Given the description of an element on the screen output the (x, y) to click on. 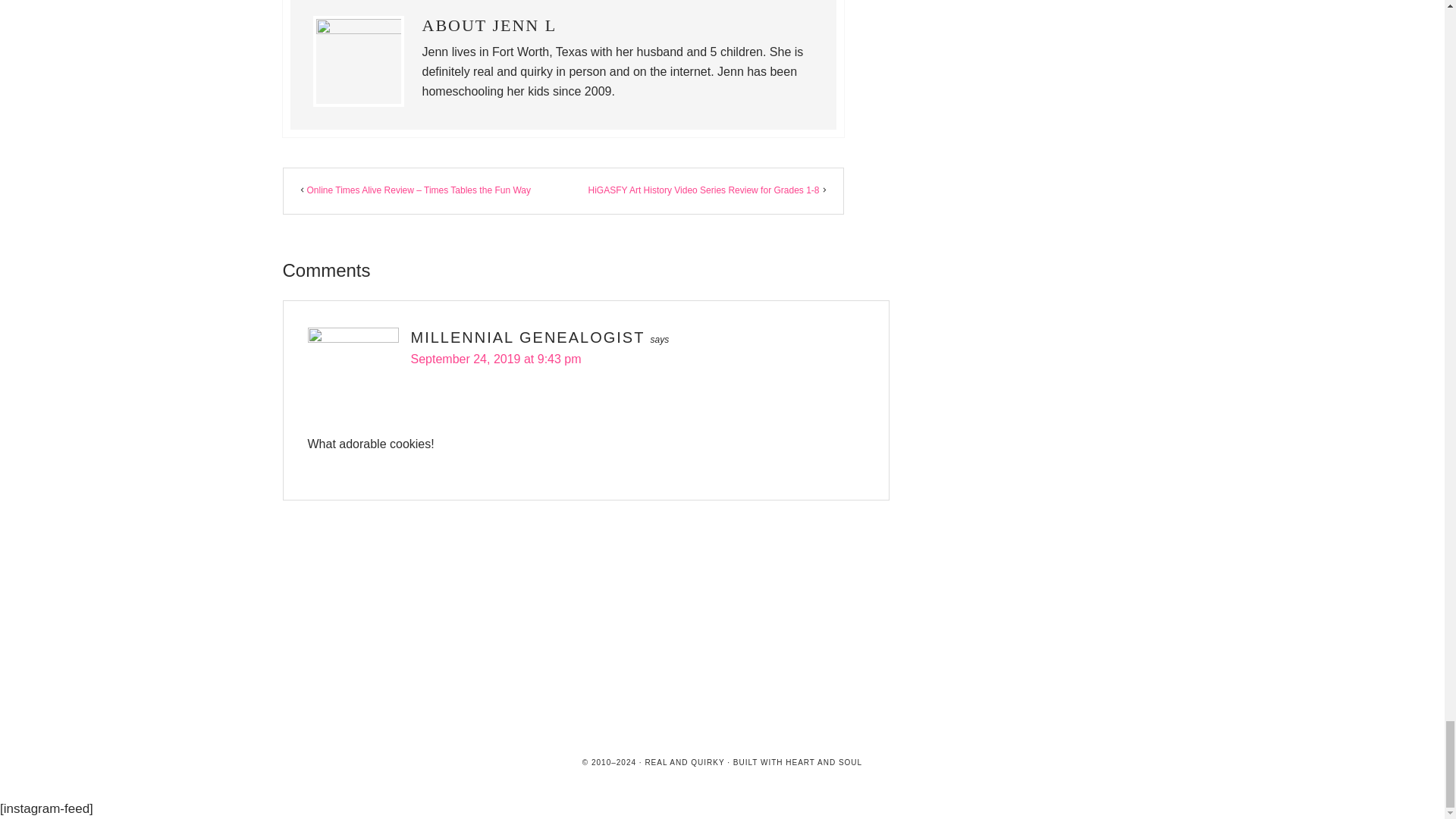
September 24, 2019 at 9:43 pm (495, 358)
HiGASFY Art History Video Series Review for Grades 1-8 (703, 190)
MILLENNIAL GENEALOGIST (527, 337)
